Given the description of an element on the screen output the (x, y) to click on. 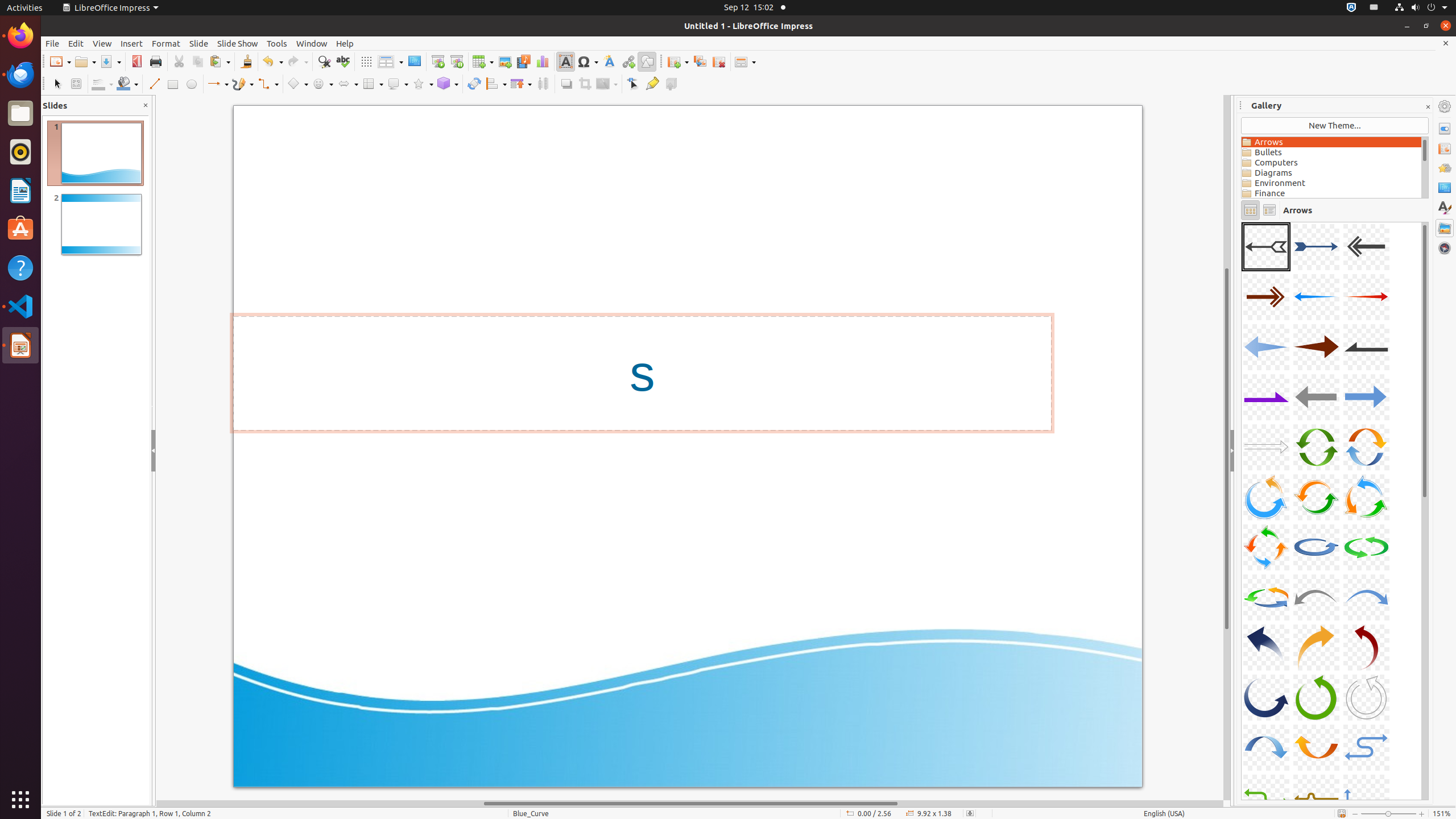
Window Element type: menu (311, 43)
Image Element type: push-button (504, 61)
Line Color Element type: push-button (101, 83)
Star Shapes Element type: push-button (422, 83)
File Element type: menu (51, 43)
